Given the description of an element on the screen output the (x, y) to click on. 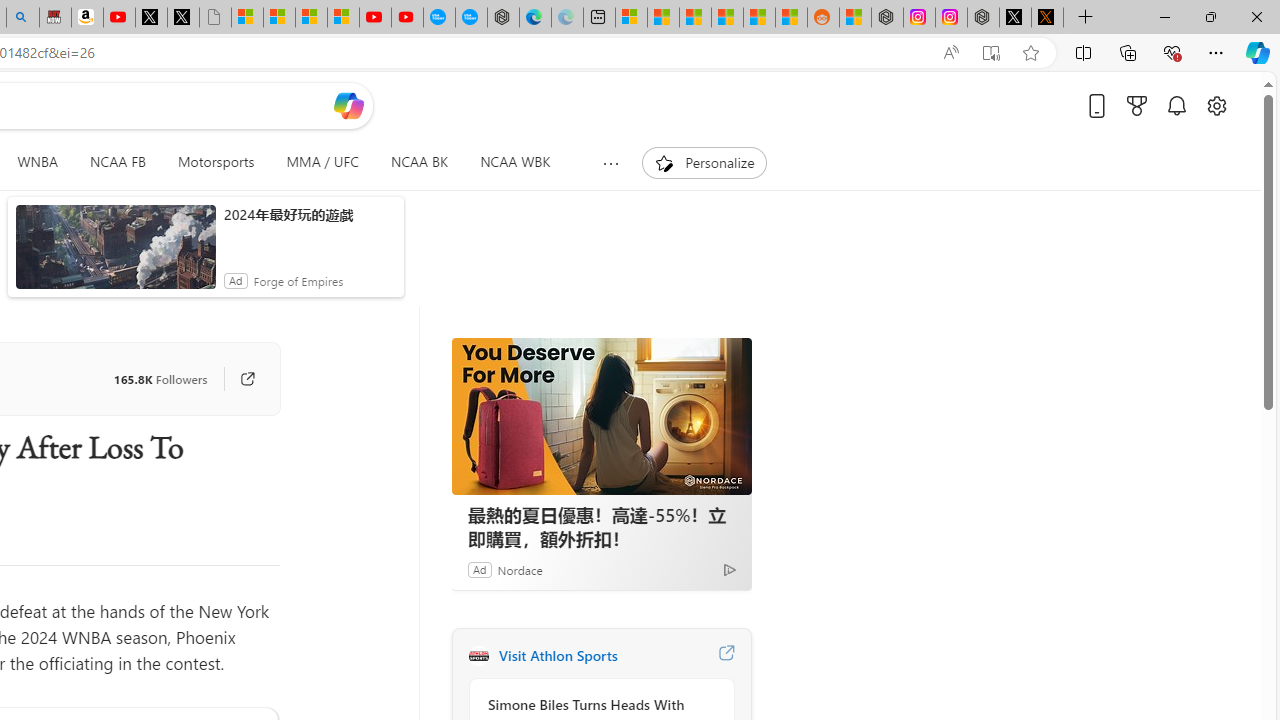
help.x.com | 524: A timeout occurred (1047, 17)
Nordace - Summer Adventures 2024 (983, 17)
NCAA BK (419, 162)
anim-content (115, 255)
Shanghai, China weather forecast | Microsoft Weather (663, 17)
Visit Athlon Sports website (726, 655)
NCAA BK (418, 162)
Gloom - YouTube (374, 17)
Restore (1210, 16)
Close (1256, 16)
